Given the description of an element on the screen output the (x, y) to click on. 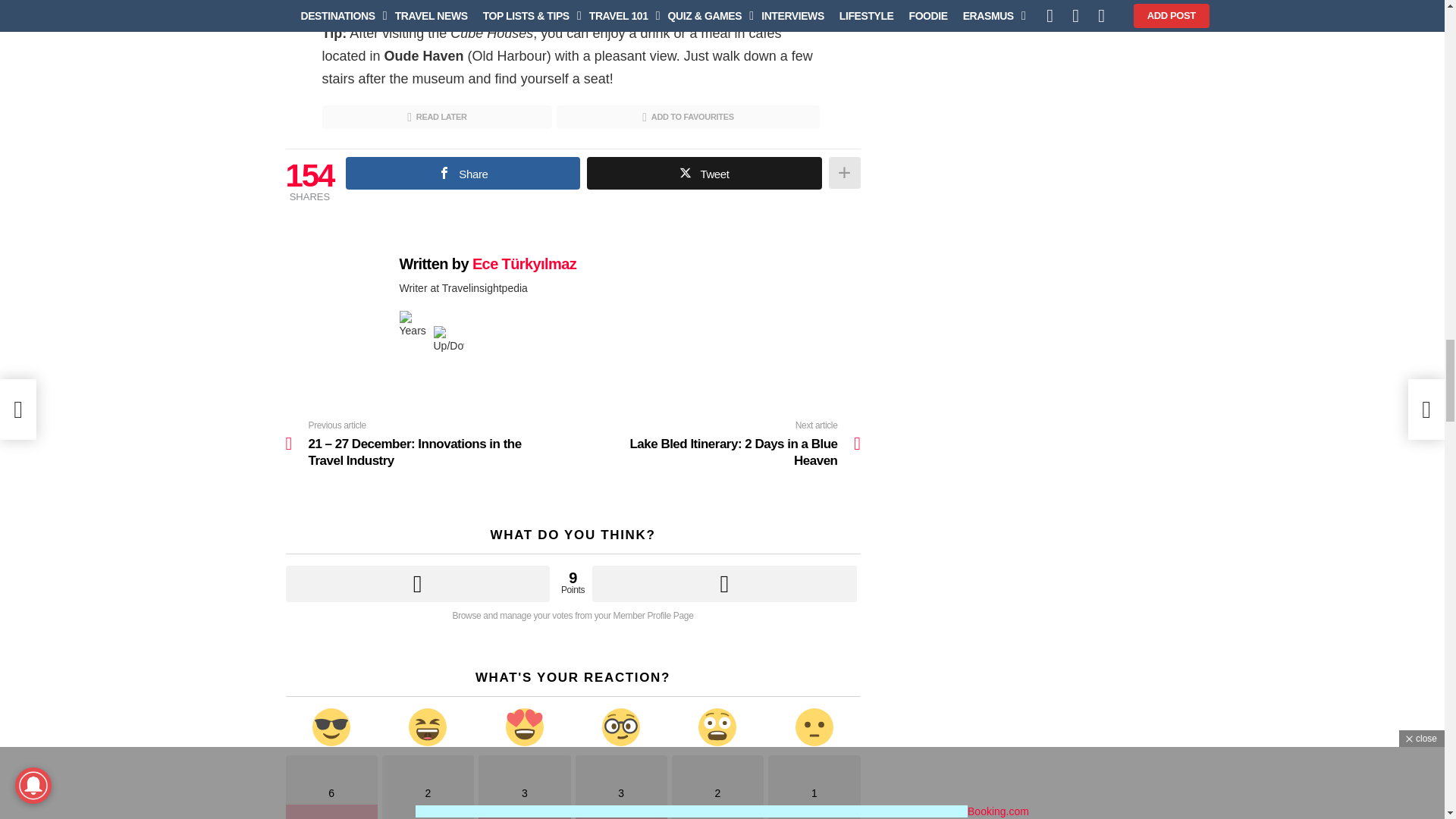
Years Of Membership (413, 326)
Downvote (724, 583)
Upvote (416, 583)
